Given the description of an element on the screen output the (x, y) to click on. 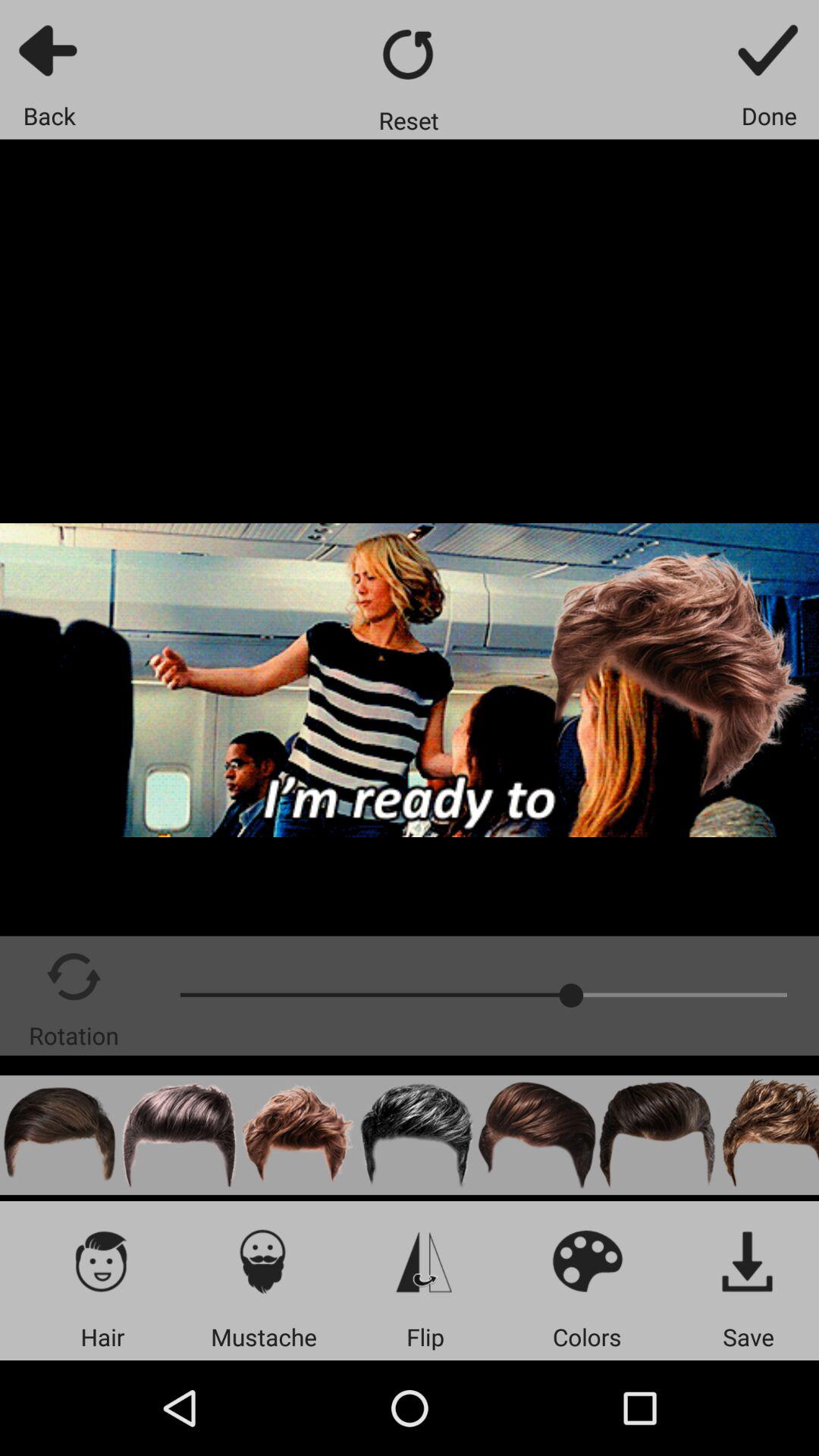
use this hair (178, 1134)
